Given the description of an element on the screen output the (x, y) to click on. 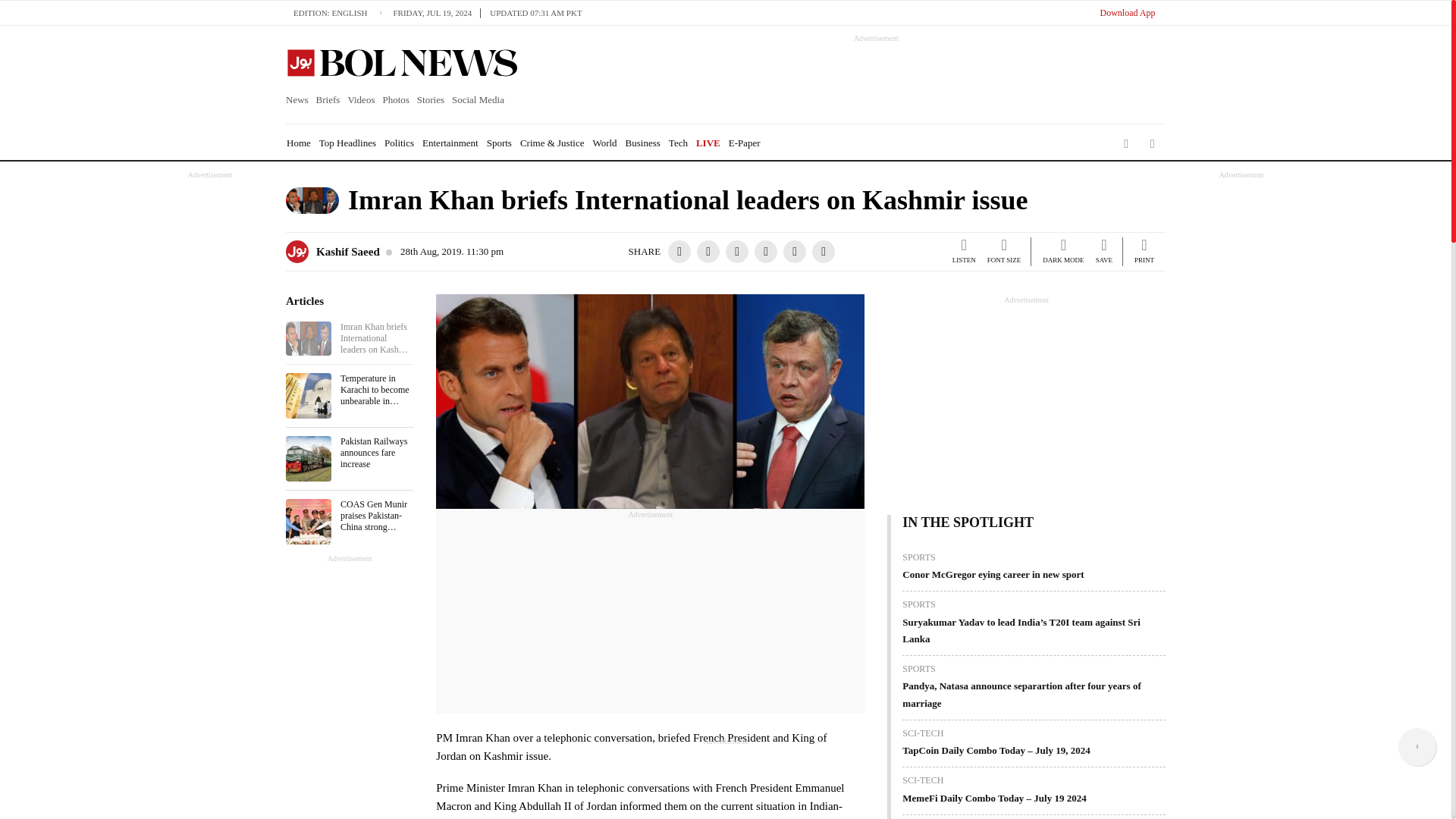
Briefs (328, 99)
Advertisement (725, 780)
Photos (395, 99)
Entertainment (450, 143)
Advertisement (1000, 400)
Stories (430, 99)
Social Media (478, 99)
FRIDAY, JUL 19, 2024 (436, 12)
Advertisement (862, 78)
UPDATED 07:31 AM PKT (535, 12)
Advertisement (650, 615)
Business (643, 143)
Top Headlines (346, 143)
News (299, 99)
Videos (360, 99)
